Given the description of an element on the screen output the (x, y) to click on. 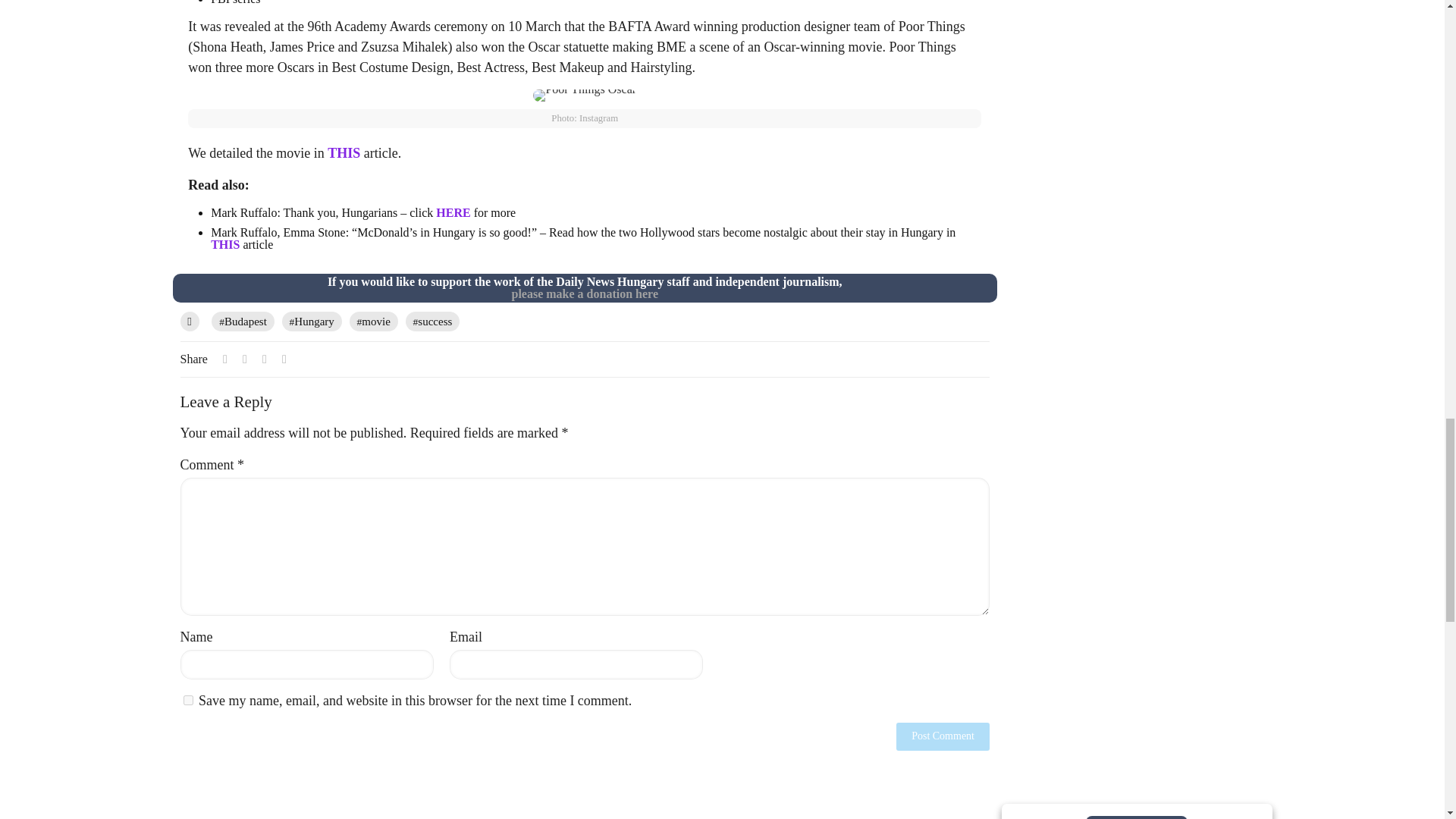
HERE (454, 212)
Hungary (312, 321)
THIS (227, 244)
yes (188, 700)
Post Comment (943, 736)
success (433, 321)
movie (373, 321)
please make a donation here (584, 293)
THIS (345, 152)
Budapest (243, 321)
